Given the description of an element on the screen output the (x, y) to click on. 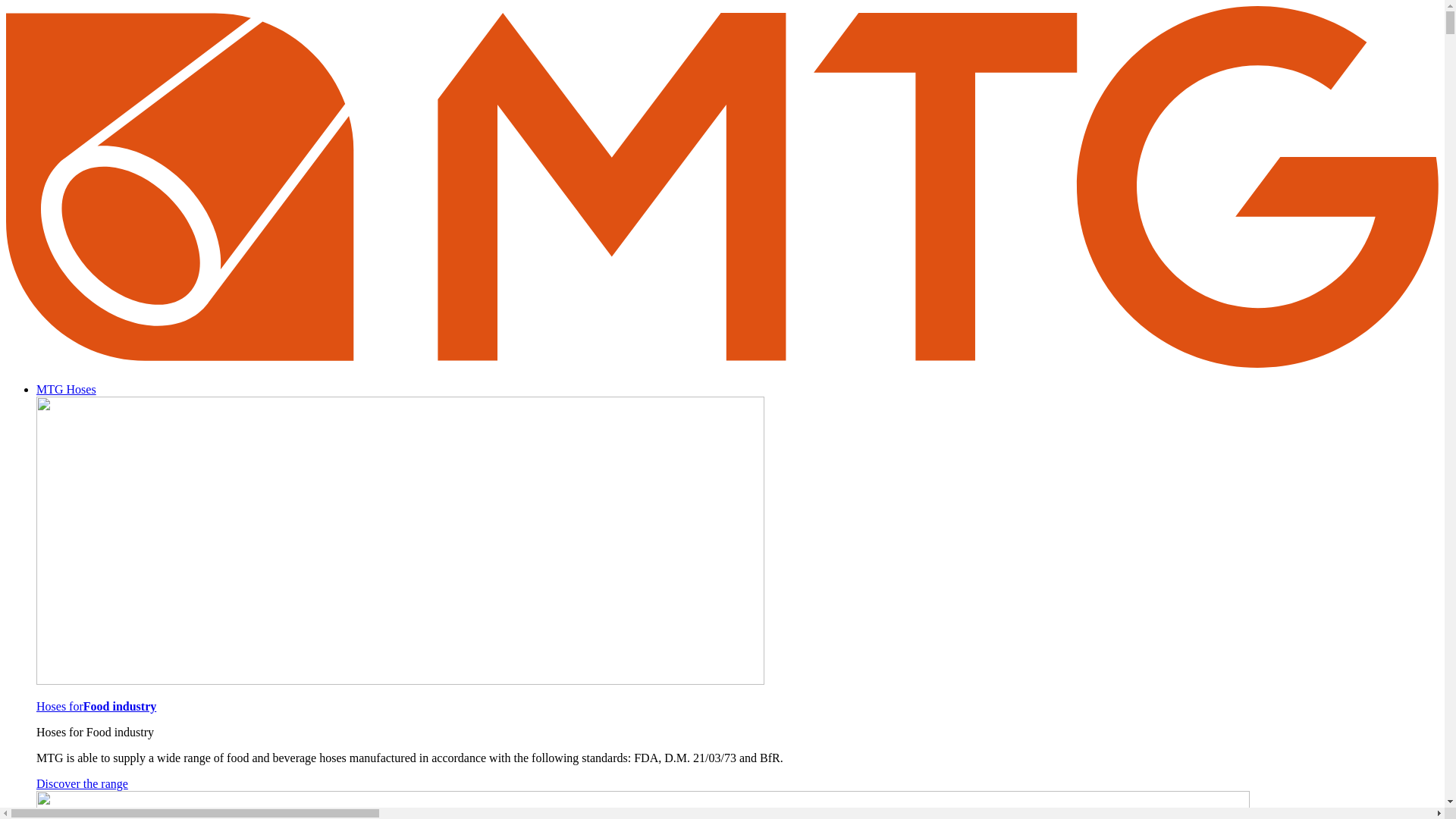
Discover the range (82, 783)
MTG Hoses (66, 389)
Discover the range (82, 783)
MTG Hoses (66, 389)
